Given the description of an element on the screen output the (x, y) to click on. 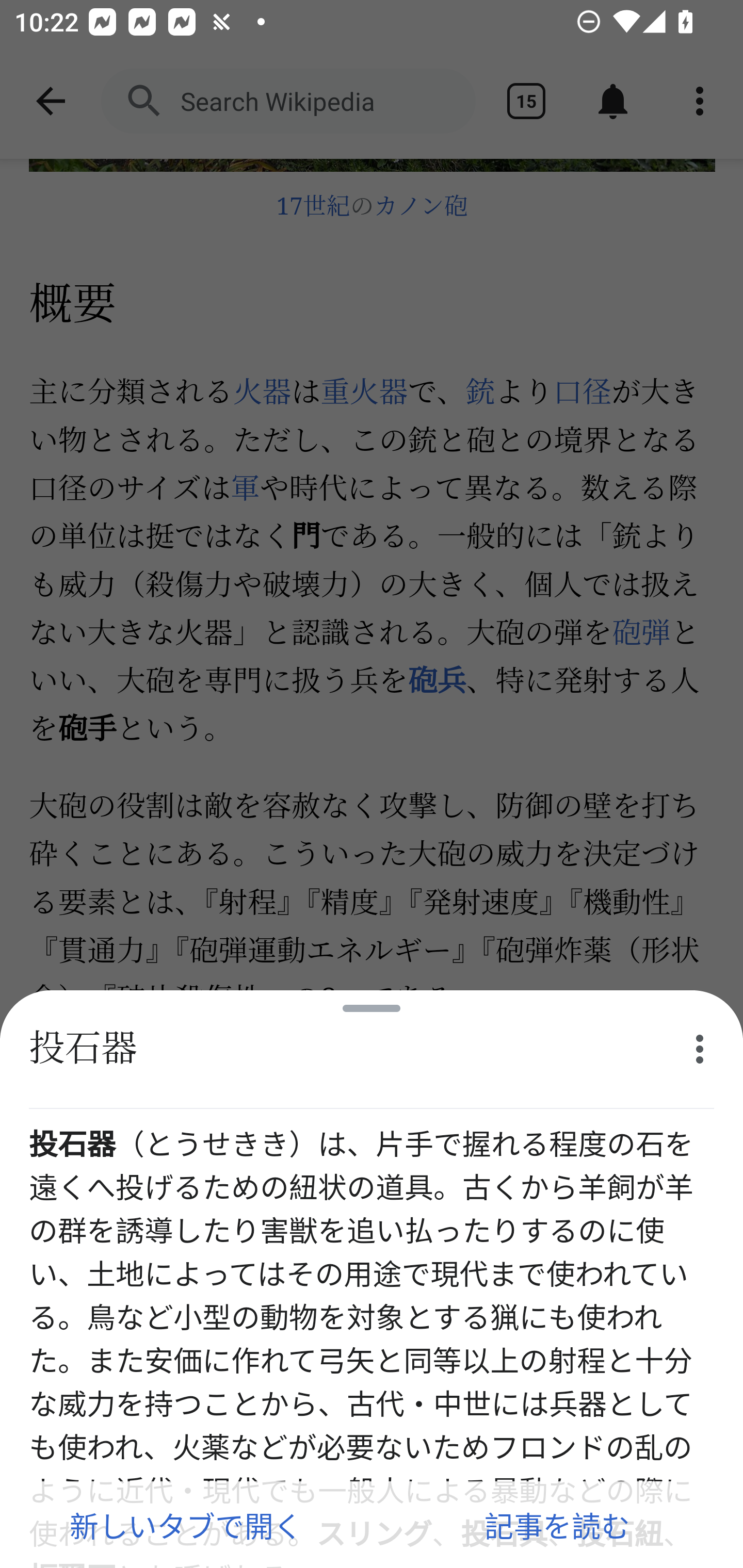
投石器 More options (371, 1049)
More options (699, 1048)
新しいタブで開く (185, 1524)
記事を読む (557, 1524)
